Given the description of an element on the screen output the (x, y) to click on. 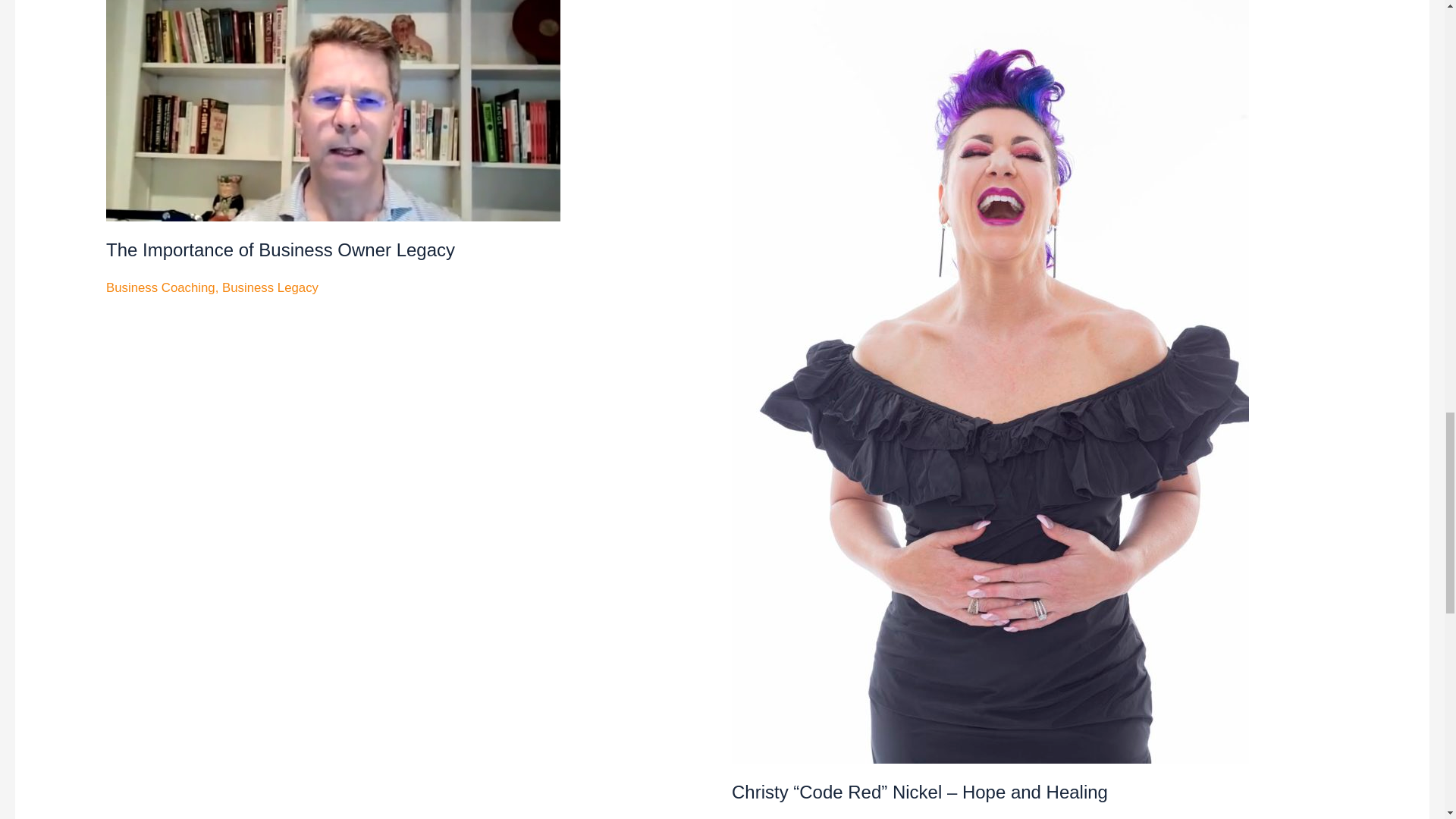
Business Coaching (160, 287)
The Importance of Business Owner Legacy (280, 249)
Business Legacy (270, 287)
